Given the description of an element on the screen output the (x, y) to click on. 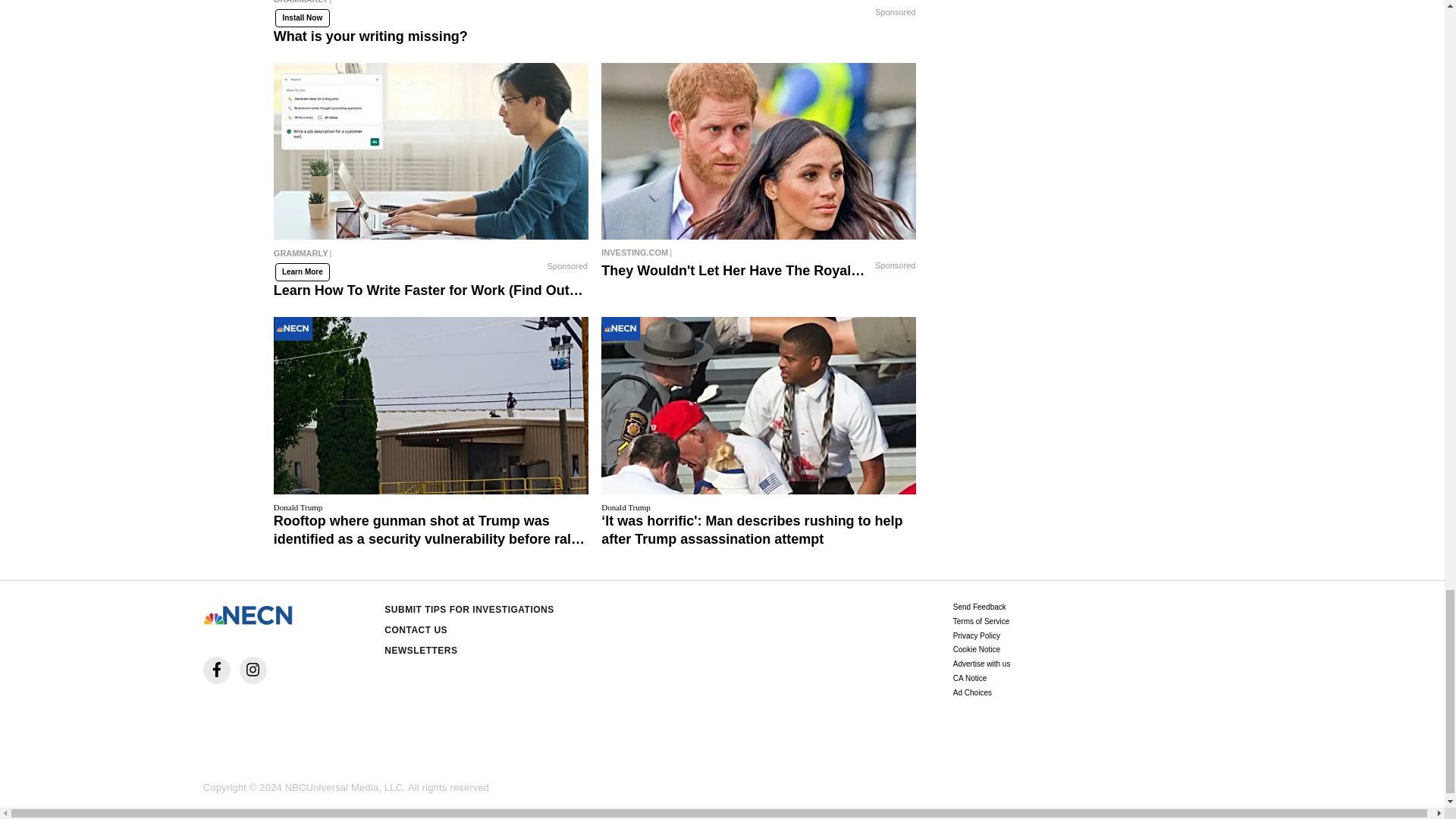
What is your writing missing? (595, 8)
